Given the description of an element on the screen output the (x, y) to click on. 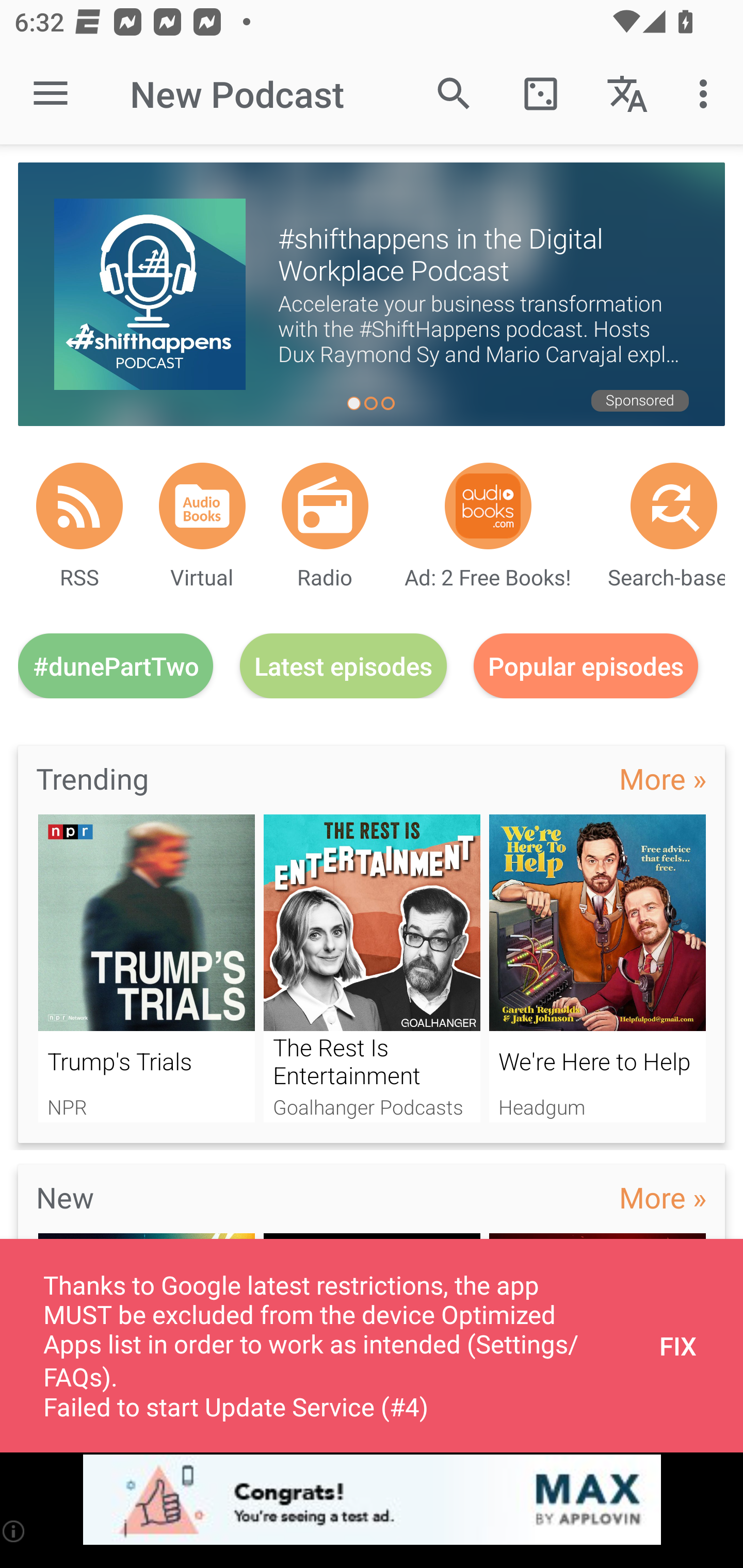
Open navigation sidebar (50, 93)
Search (453, 93)
Random pick (540, 93)
Podcast languages (626, 93)
More options (706, 93)
RSS (79, 505)
Virtual (202, 505)
Radio (324, 505)
Search-based (673, 505)
#dunePartTwo (115, 665)
Latest episodes (342, 665)
Popular episodes (586, 665)
More » (662, 778)
Trump's Trials NPR (145, 967)
The Rest Is Entertainment Goalhanger Podcasts (371, 967)
We're Here to Help Headgum (596, 967)
More » (662, 1196)
FIX (677, 1346)
app-monetization (371, 1500)
(i) (14, 1531)
